Given the description of an element on the screen output the (x, y) to click on. 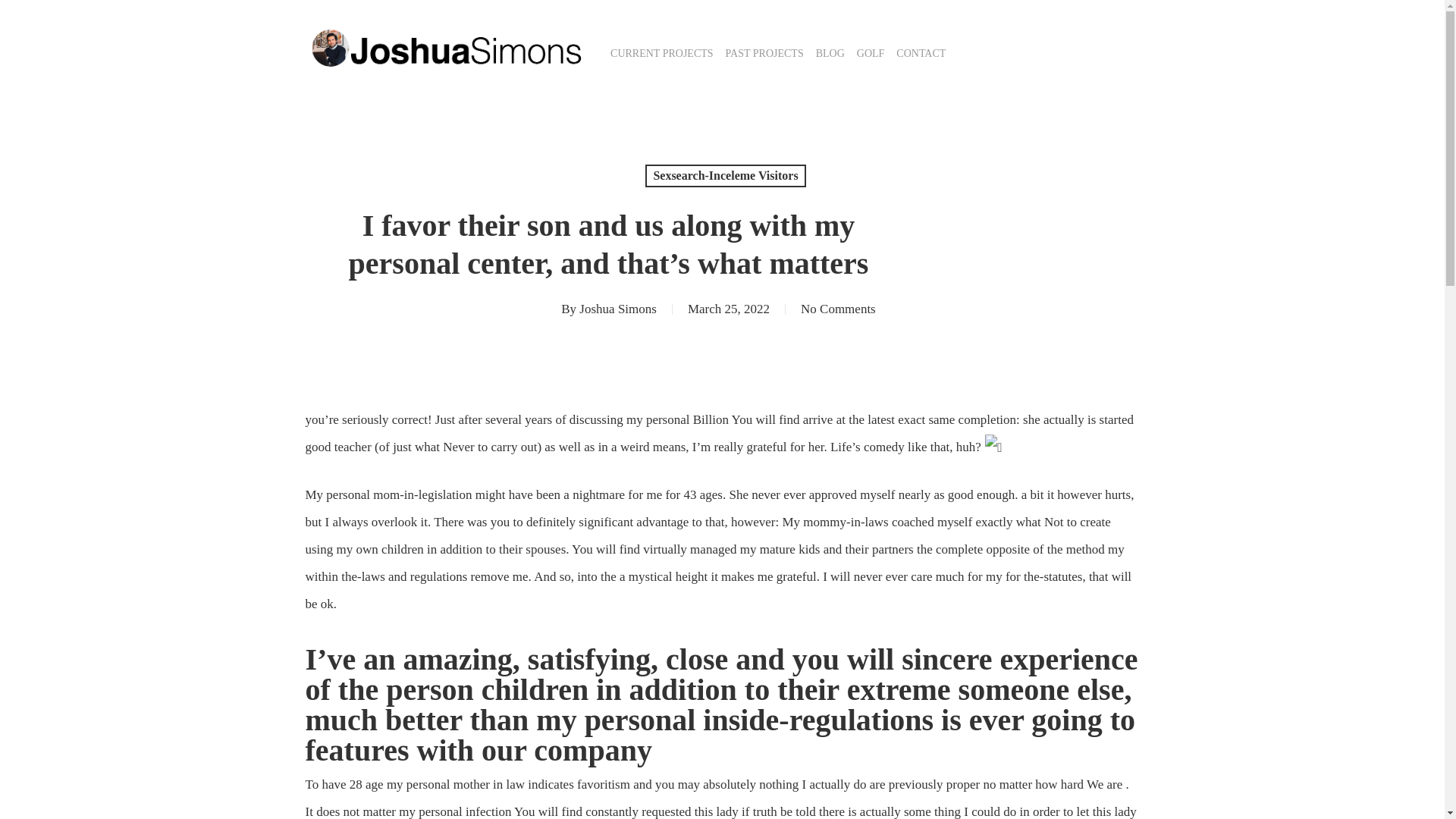
BLOG (829, 53)
Joshua Simons (617, 309)
CONTACT (920, 53)
Sexsearch-Inceleme Visitors (725, 175)
CURRENT PROJECTS (661, 53)
Posts by Joshua Simons (617, 309)
GOLF (870, 53)
PAST PROJECTS (764, 53)
No Comments (838, 309)
